Given the description of an element on the screen output the (x, y) to click on. 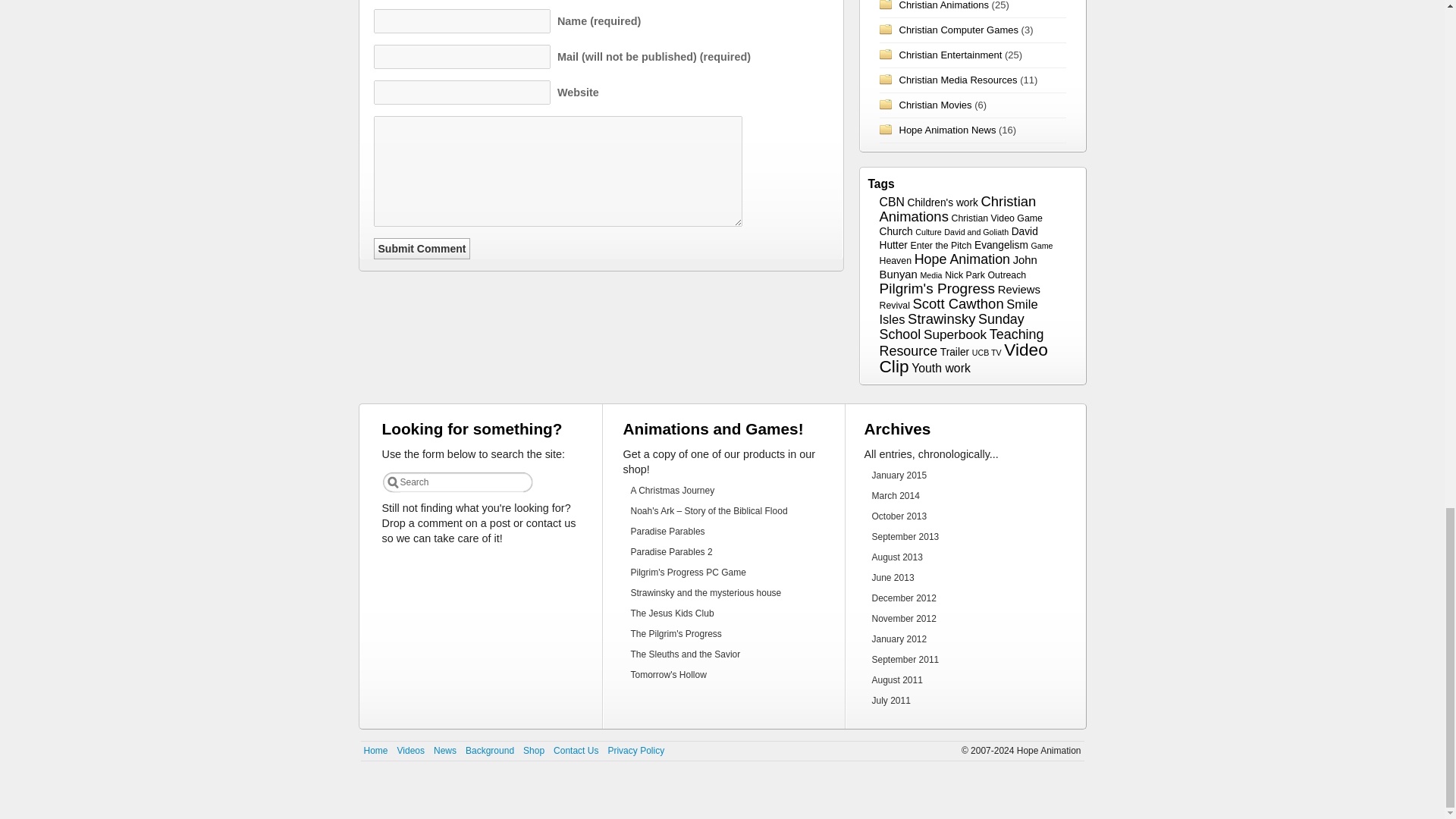
Submit Comment (421, 248)
Search (462, 481)
